Given the description of an element on the screen output the (x, y) to click on. 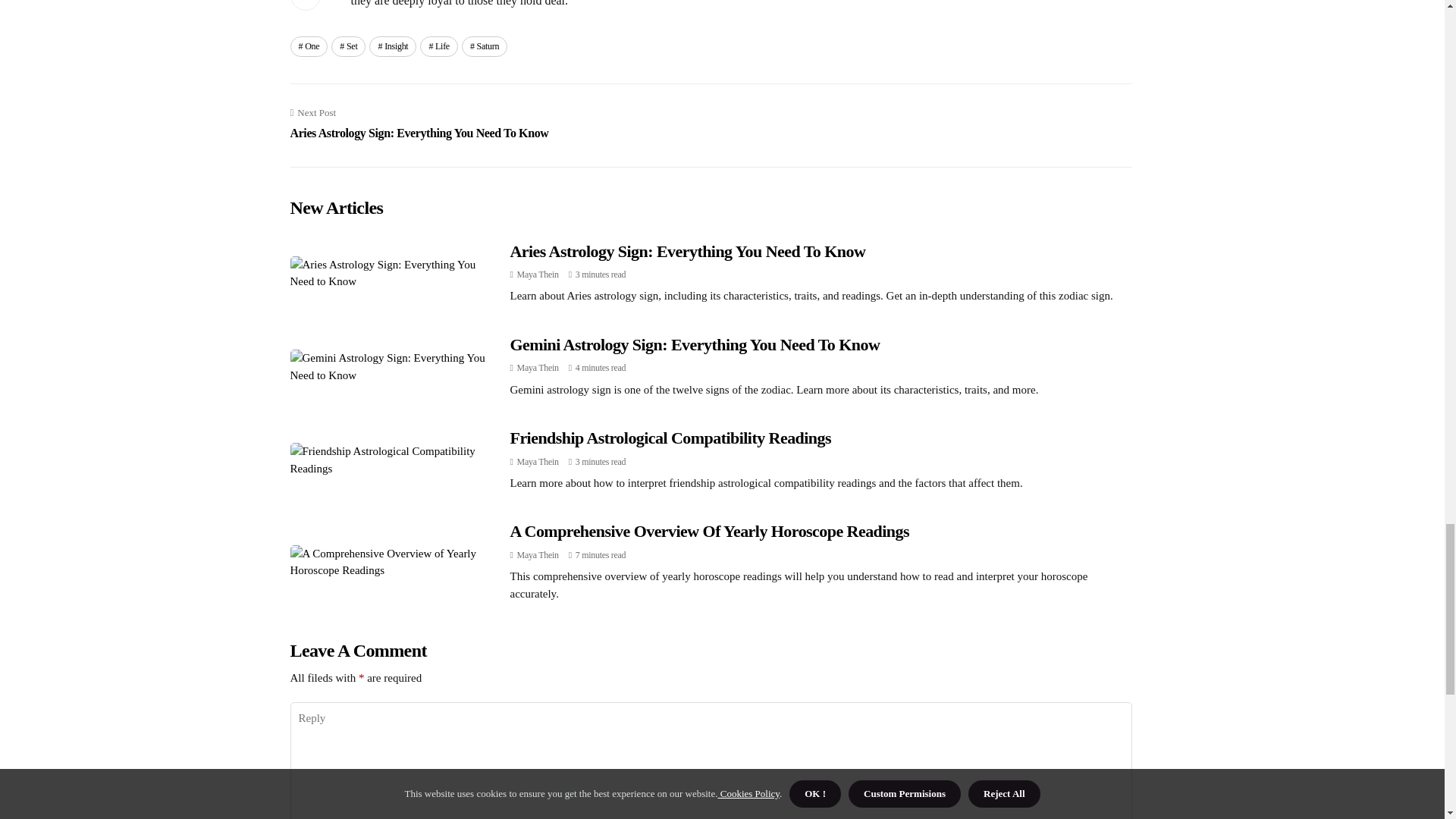
Posts by Maya Thein (537, 461)
Posts by Maya Thein (537, 367)
Posts by Maya Thein (537, 554)
Posts by Maya Thein (537, 274)
